Given the description of an element on the screen output the (x, y) to click on. 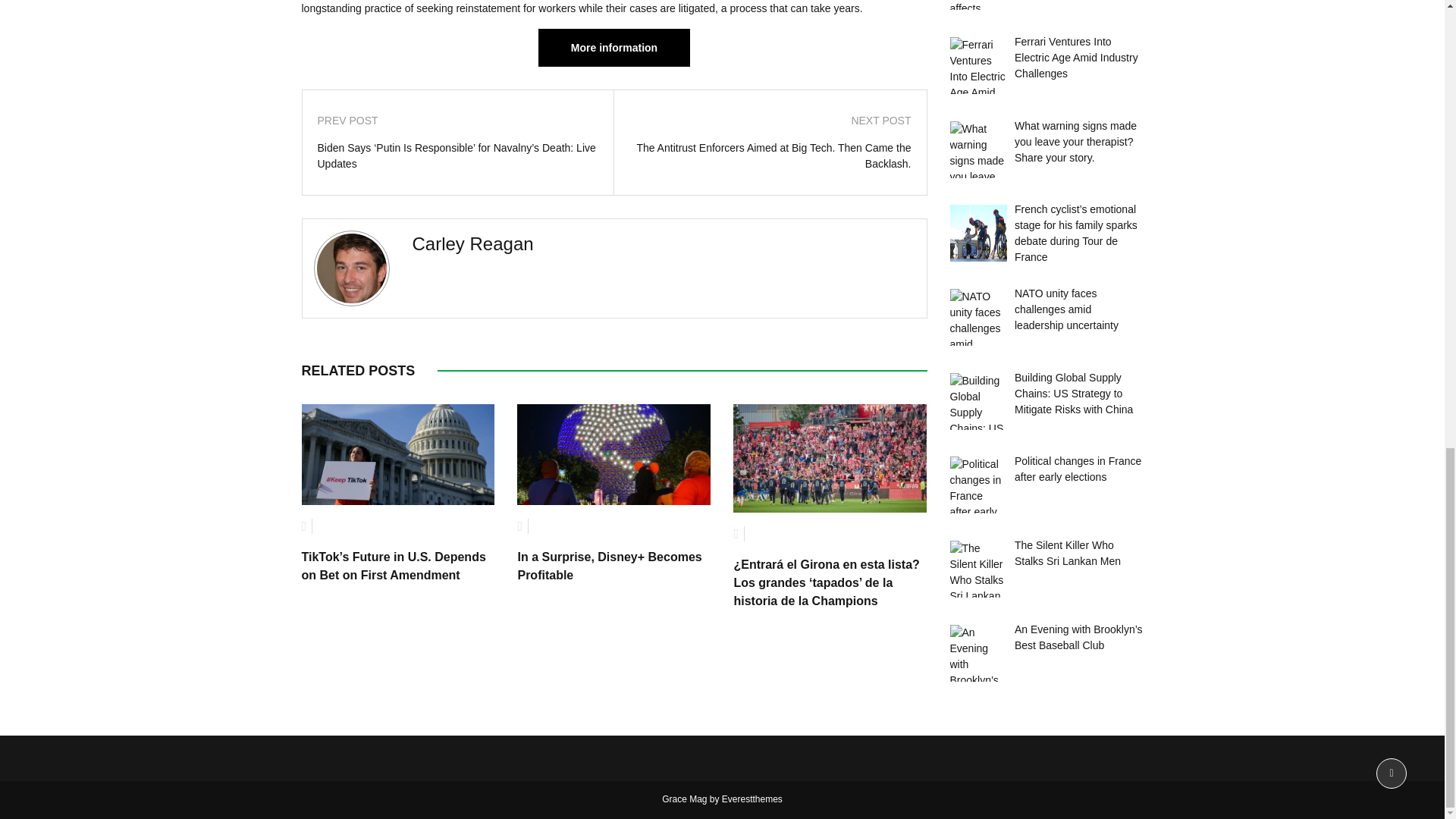
Political changes in France after early elections (1077, 469)
Ferrari Ventures Into Electric Age Amid Industry Challenges (977, 65)
Political changes in France after early elections (977, 484)
Ferrari Ventures Into Electric Age Amid Industry Challenges (1076, 57)
The Silent Killer Who Stalks Sri Lankan Men (1067, 552)
NATO unity faces challenges amid leadership uncertainty (977, 317)
NATO unity faces challenges amid leadership uncertainty (1066, 309)
More information (614, 47)
Everestthemes (752, 798)
